Given the description of an element on the screen output the (x, y) to click on. 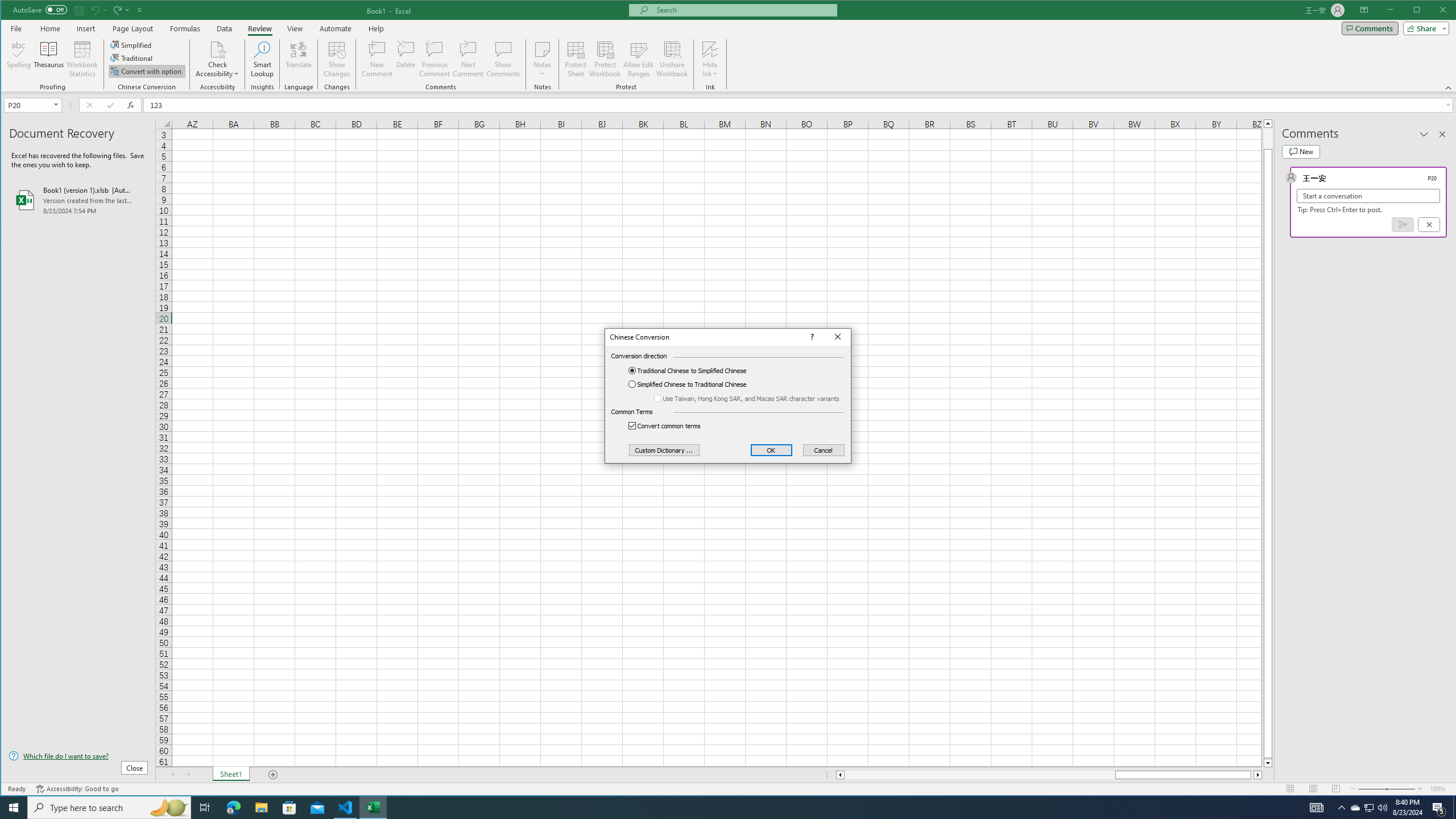
Type here to search (108, 807)
Next Comment (467, 59)
Protect Workbook... (604, 59)
Cancel (823, 450)
Simplified (132, 44)
File Explorer (1368, 807)
Delete (261, 807)
Notification Chevron (405, 59)
